Given the description of an element on the screen output the (x, y) to click on. 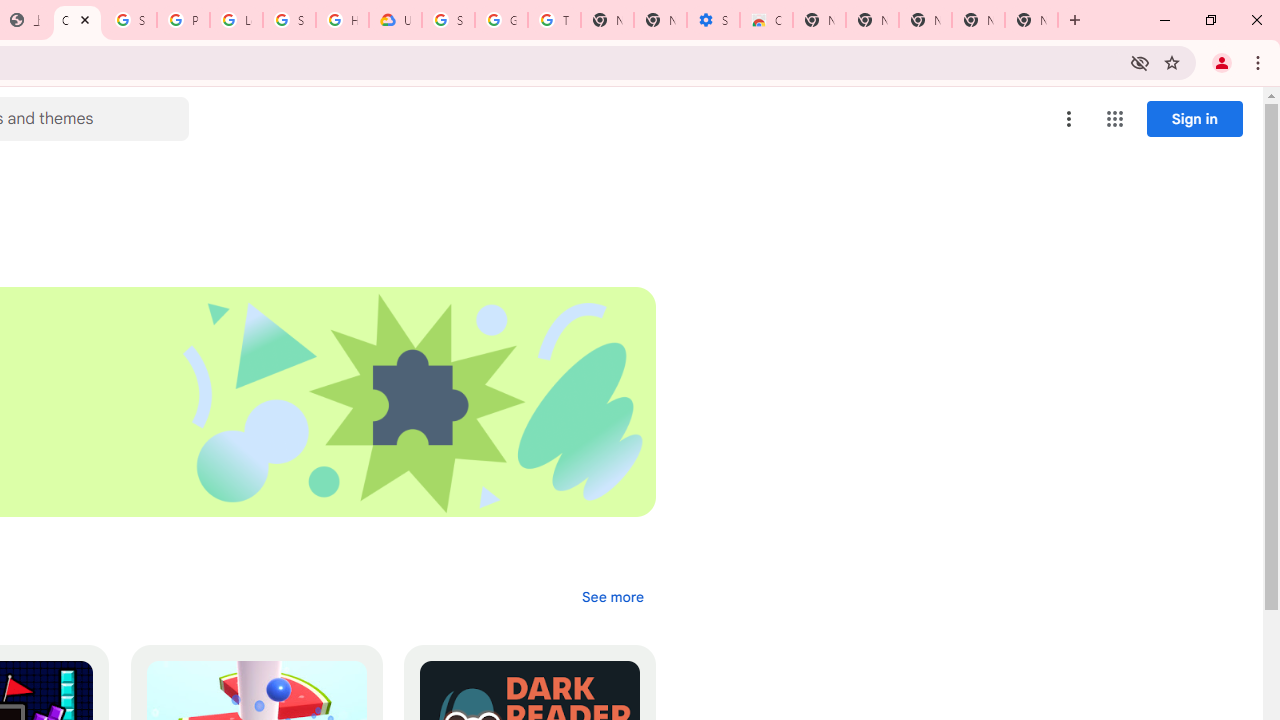
Chrome Web Store - Extensions (77, 20)
Sign in - Google Accounts (448, 20)
New Tab (819, 20)
Sign in - Google Accounts (130, 20)
New Tab (1031, 20)
Chrome Web Store - Accessibility extensions (766, 20)
